Given the description of an element on the screen output the (x, y) to click on. 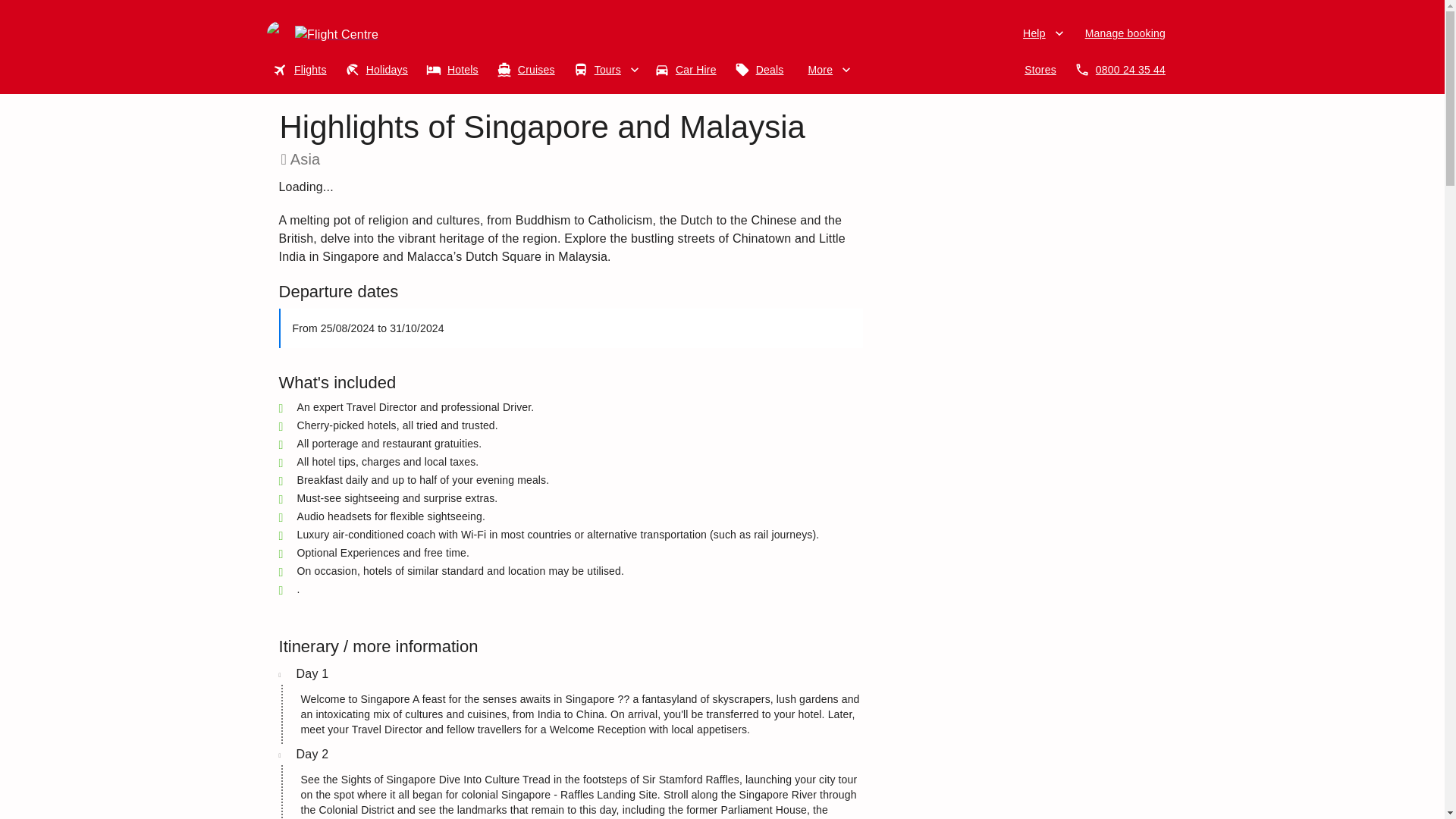
Flight Centre (370, 32)
Car Hire (688, 69)
Help (1041, 33)
Holidays (379, 69)
Tours (607, 69)
Car Hire (688, 69)
Deals (762, 69)
Tours (607, 69)
Flights (302, 69)
Hotels (455, 69)
Deals (762, 69)
Cruises (528, 69)
More (827, 69)
More (827, 69)
Help (1041, 33)
